Given the description of an element on the screen output the (x, y) to click on. 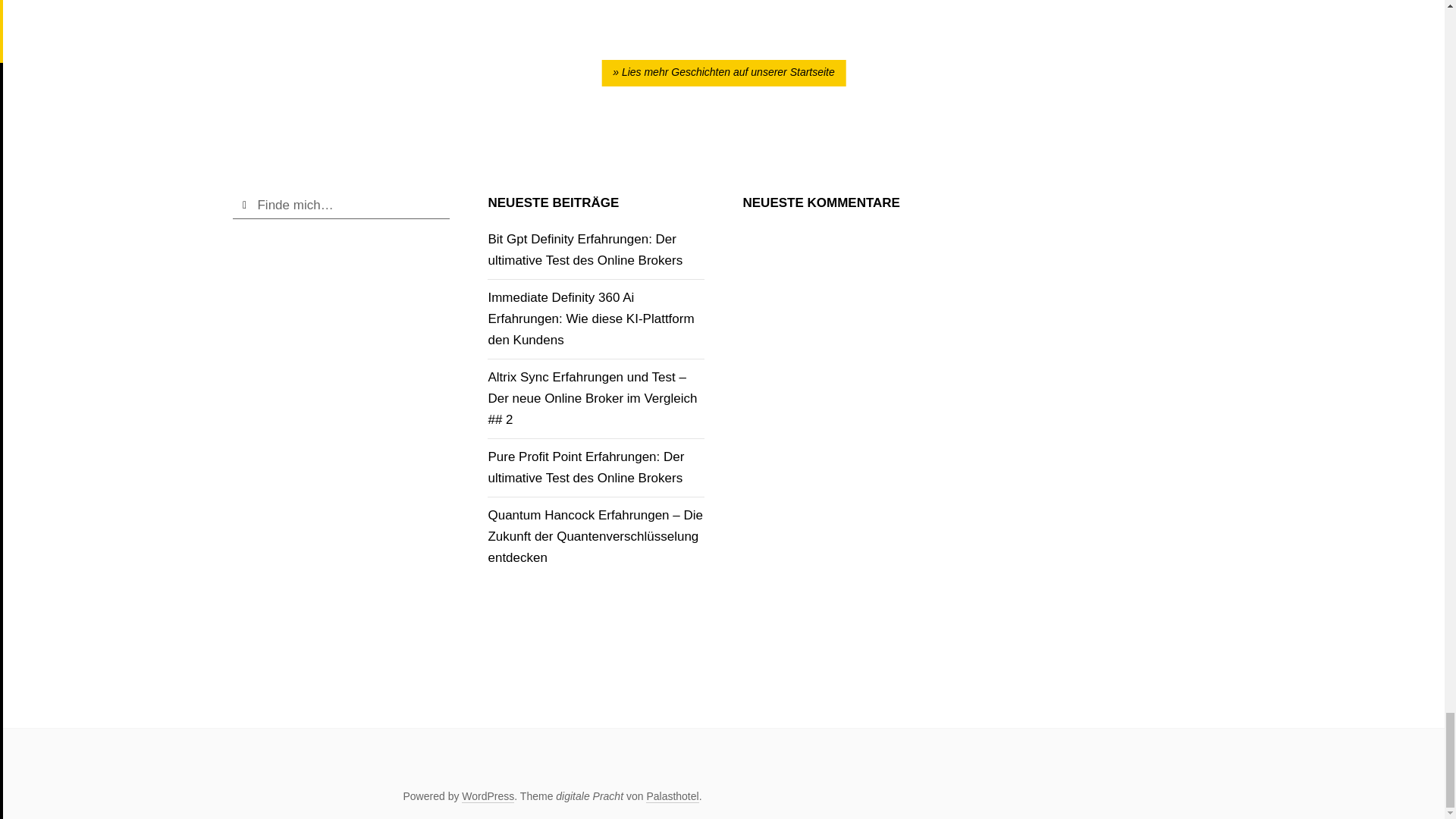
Lies mehr Geschichten auf unserer Startseite (723, 72)
WordPress (487, 796)
Palasthotel (672, 796)
